Given the description of an element on the screen output the (x, y) to click on. 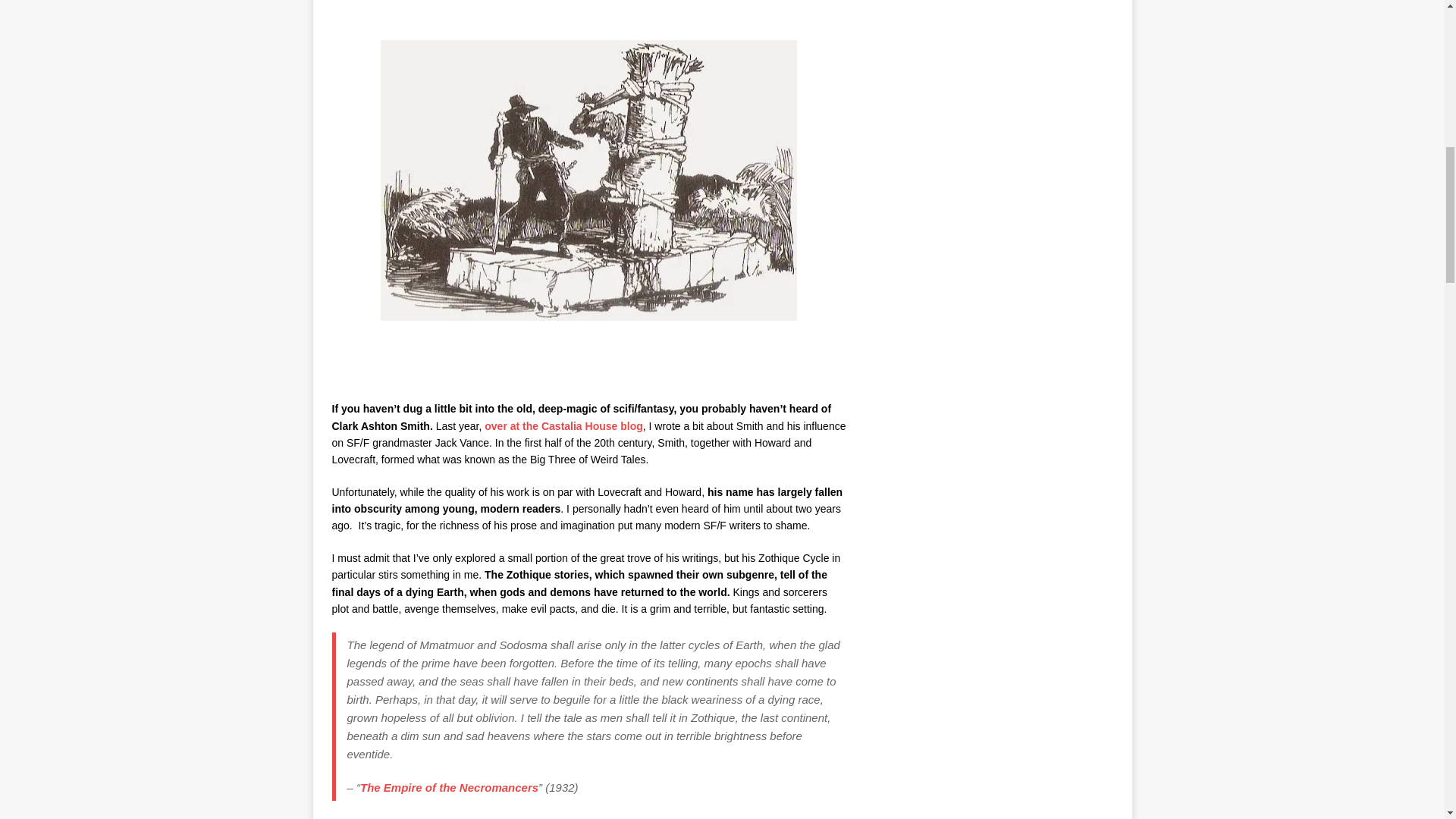
The Empire of the Necromancers (448, 787)
over at the Castalia House blog (563, 426)
